Given the description of an element on the screen output the (x, y) to click on. 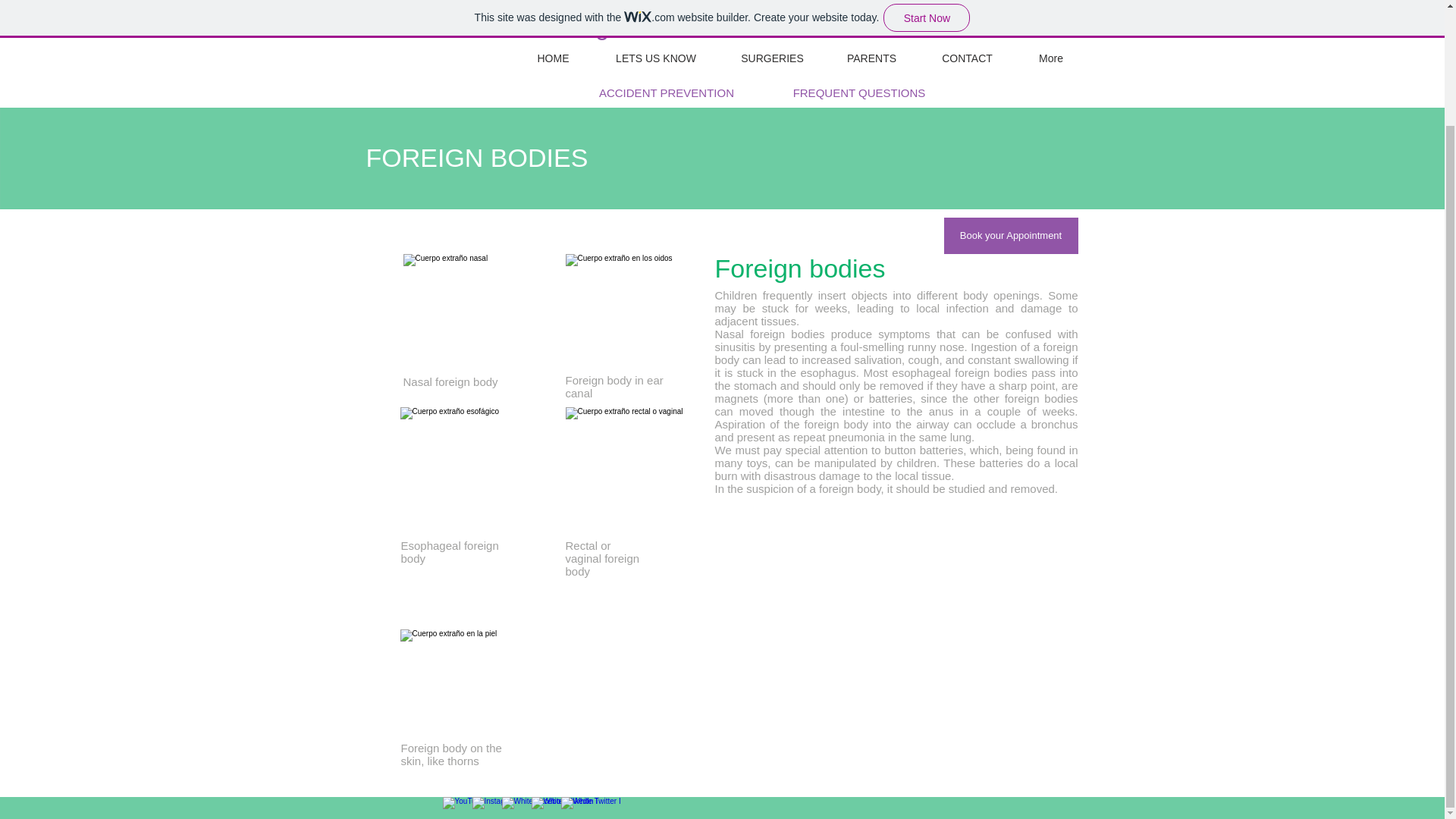
LETS US KNOW (655, 58)
PARENTS (871, 58)
SURGERIES (772, 58)
ACCIDENT PREVENTION (665, 91)
HOME (552, 58)
Book your Appointment (1010, 235)
FREQUENT QUESTIONS (859, 91)
CONTACT (967, 58)
